Given the description of an element on the screen output the (x, y) to click on. 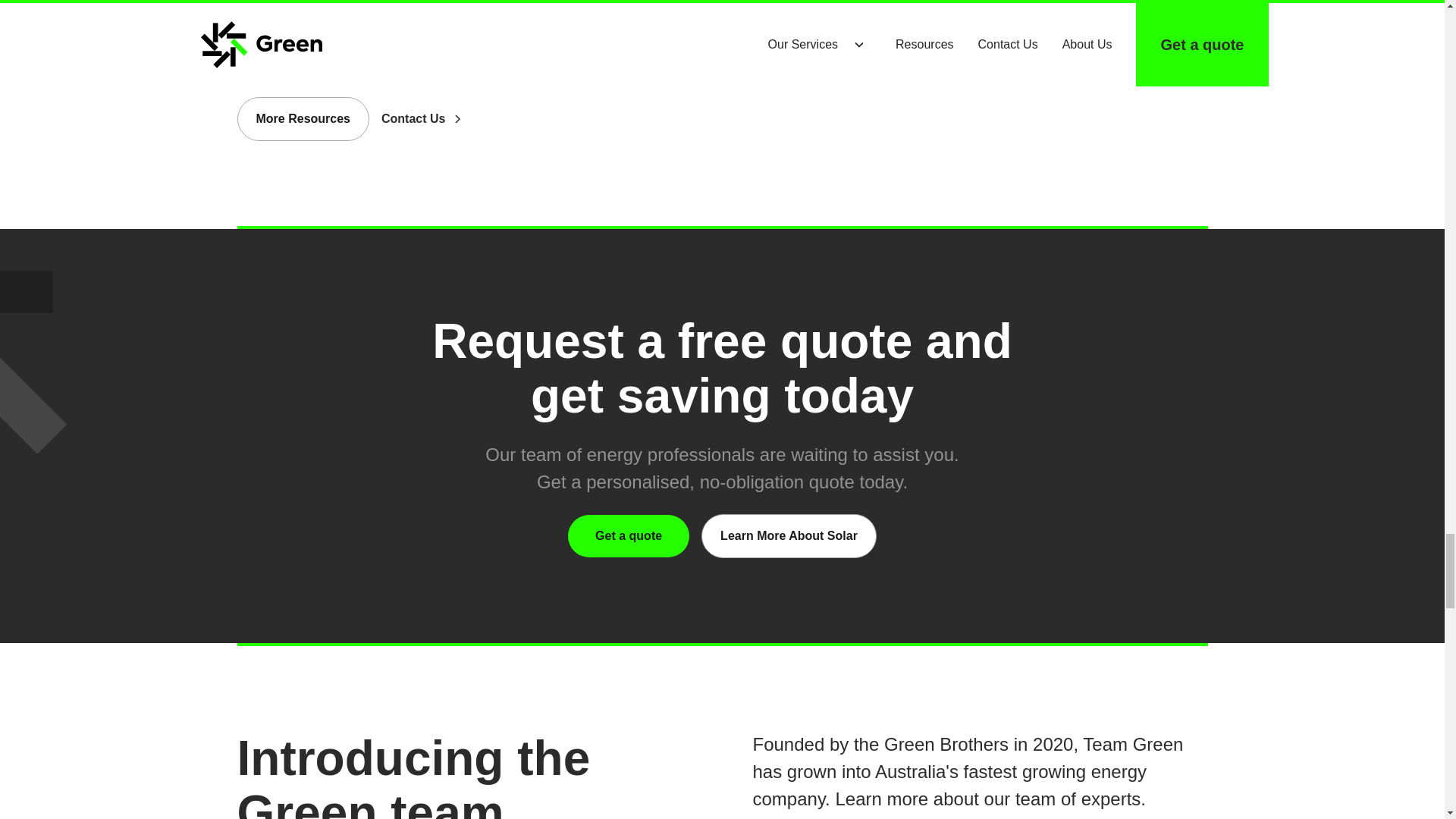
Contact Us (441, 118)
More Resources (302, 118)
Get a quote (627, 536)
Learn More About Solar (788, 535)
